Given the description of an element on the screen output the (x, y) to click on. 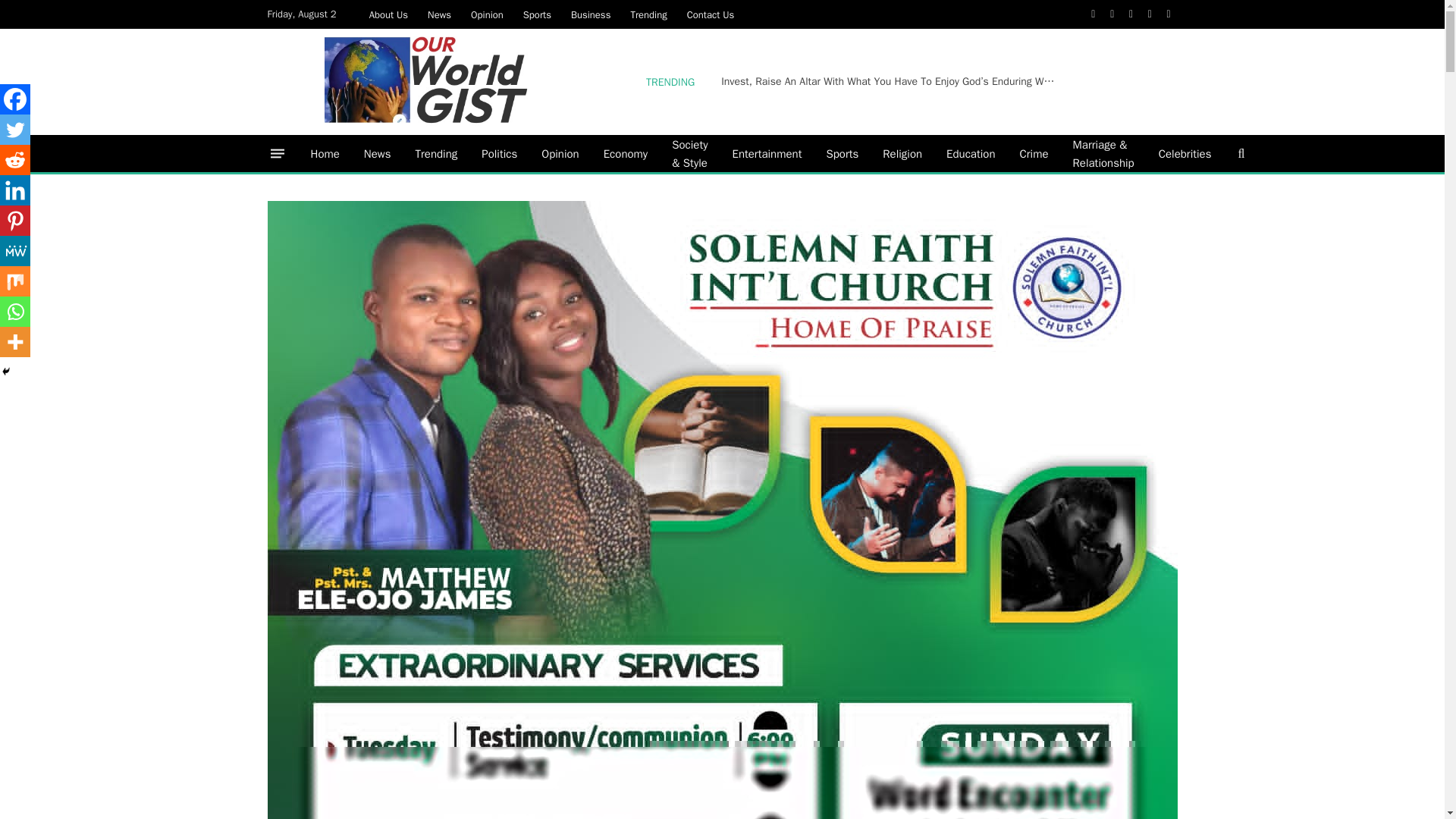
About Us (388, 14)
Our World Gist (427, 81)
Opinion (487, 14)
Business (590, 14)
Trending (648, 14)
Sports (536, 14)
News (439, 14)
Contact Us (710, 14)
